Given the description of an element on the screen output the (x, y) to click on. 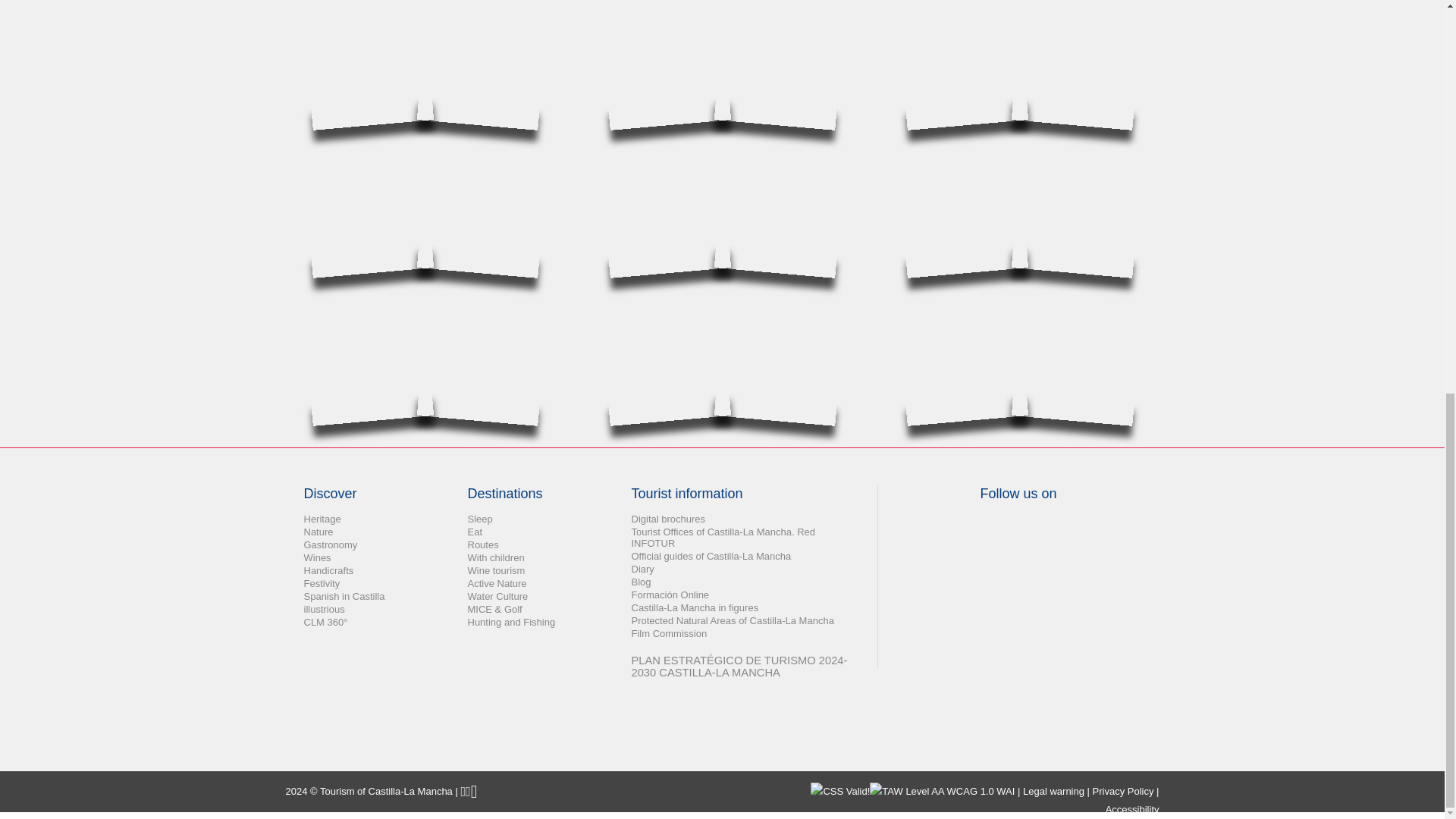
Validated with TAW (941, 791)
